Given the description of an element on the screen output the (x, y) to click on. 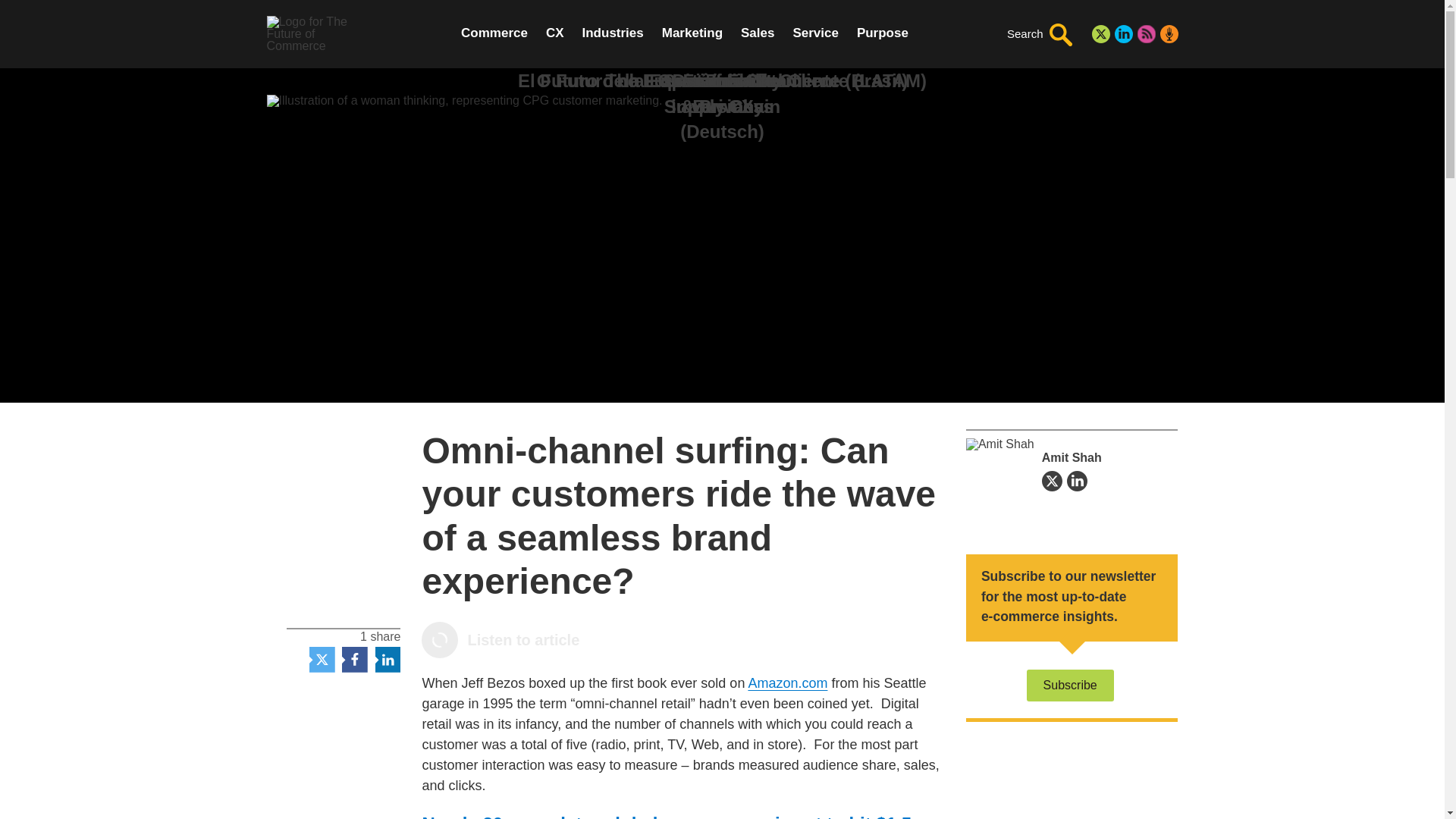
Go to homepage (321, 33)
Commerce (494, 33)
Marketing (692, 33)
Industries (612, 33)
